Given the description of an element on the screen output the (x, y) to click on. 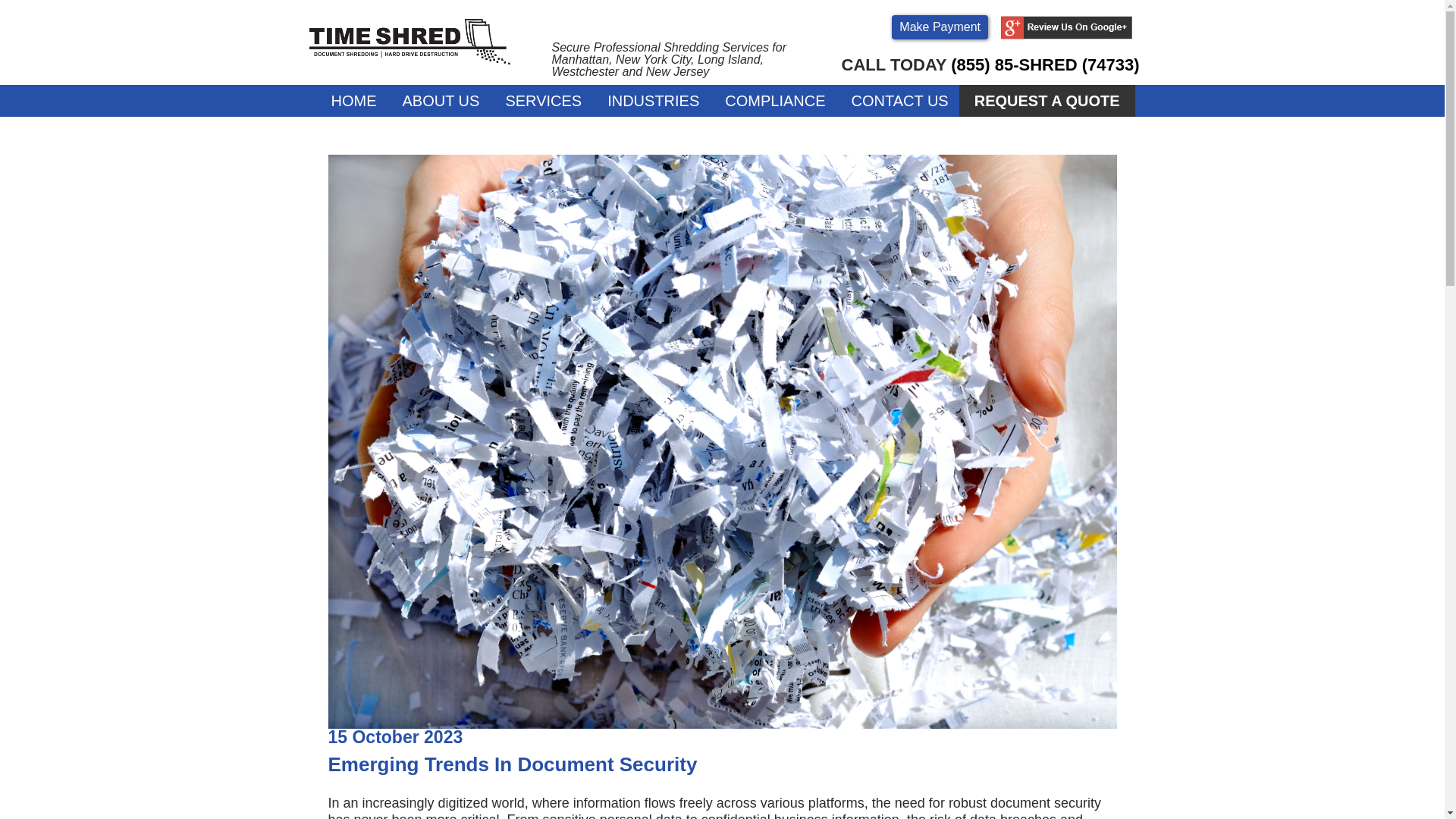
CONTACT US (899, 101)
SERVICES (542, 101)
Leave a Google Review (1066, 34)
INDUSTRIES (653, 101)
HOME (353, 101)
Make Payment (939, 27)
Make Payment (939, 27)
ABOUT US (441, 101)
COMPLIANCE (775, 101)
REQUEST A QUOTE (1047, 101)
